Given the description of an element on the screen output the (x, y) to click on. 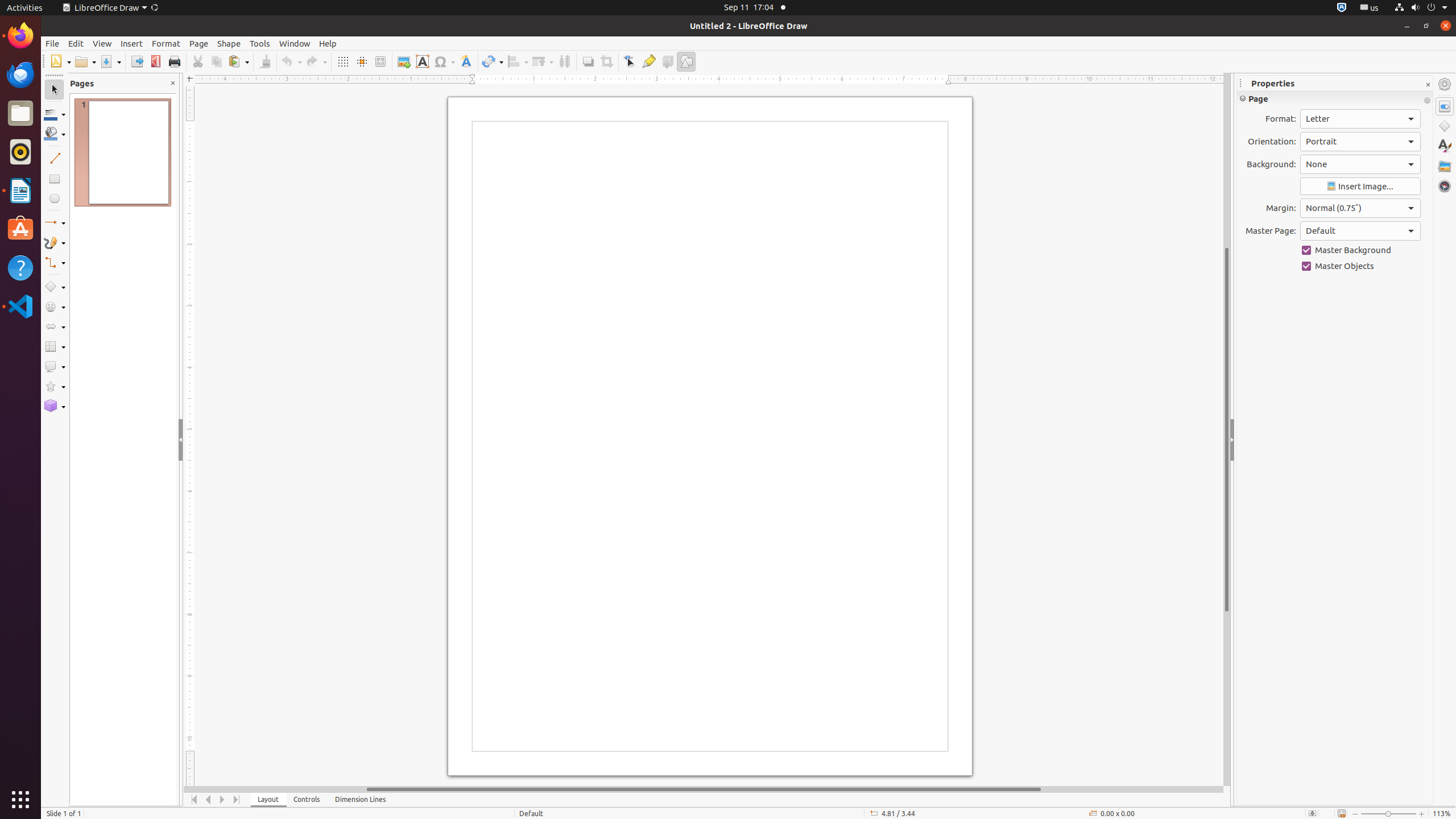
Line Color Element type: push-button (54, 113)
Export Element type: push-button (136, 61)
Line Element type: push-button (53, 158)
Symbol Shapes Element type: push-button (54, 306)
Properties Element type: panel (1334, 82)
